Given the description of an element on the screen output the (x, y) to click on. 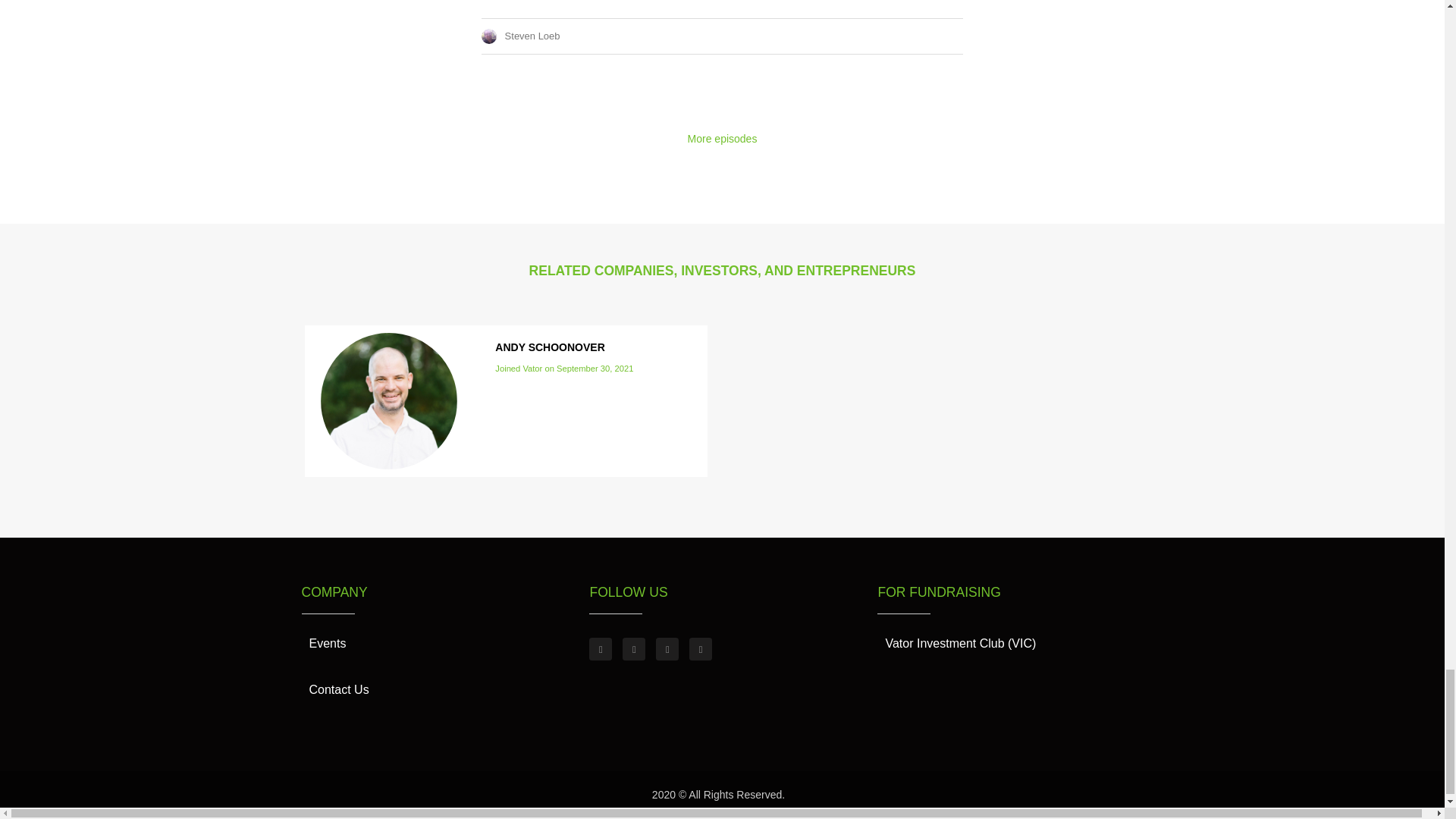
ANDY SCHOONOVER (549, 346)
More episodes (722, 138)
Contact Us (338, 690)
Events (327, 643)
